Given the description of an element on the screen output the (x, y) to click on. 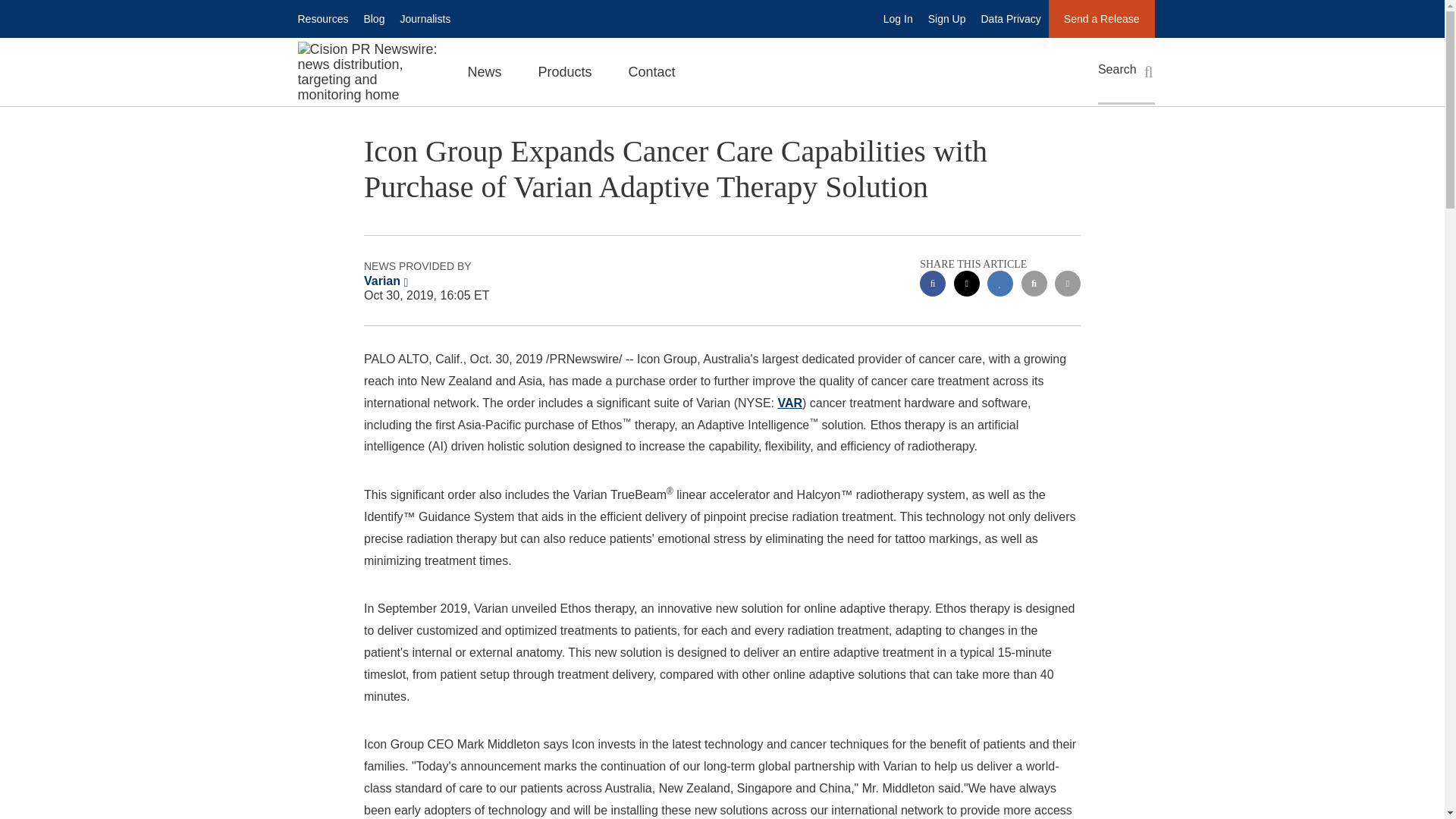
News (483, 71)
Blog (373, 18)
Products (564, 71)
Send a Release (1101, 18)
Resources (322, 18)
Data Privacy (1011, 18)
Journalists (424, 18)
Contact (652, 71)
Log In (898, 18)
